Given the description of an element on the screen output the (x, y) to click on. 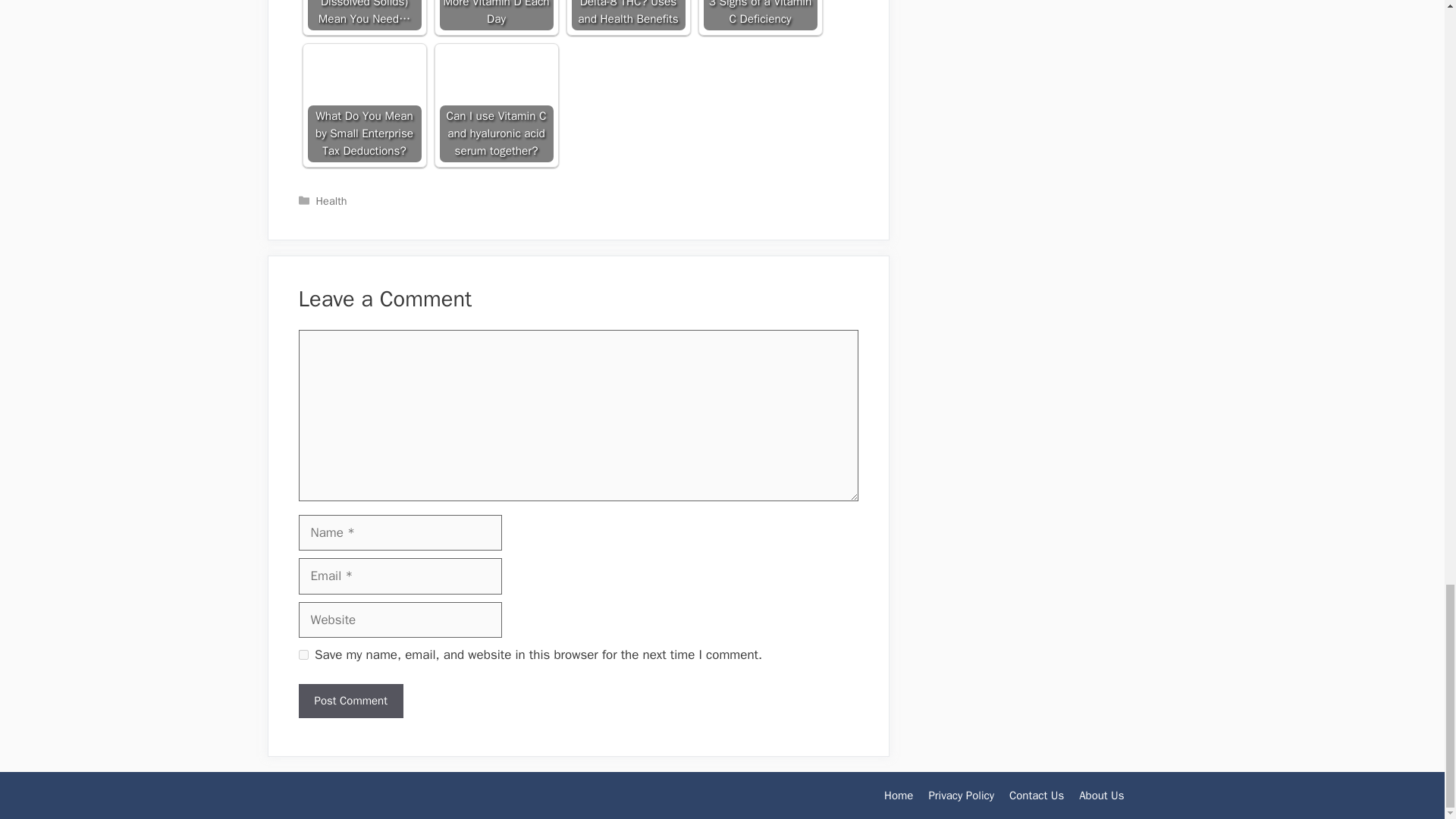
This Is How to Get More Vitamin D Each Day (496, 15)
3 Signs of a Vitamin C Deficiency (759, 15)
Can I use Vitamin C and hyaluronic acid serum together? (496, 105)
This Is How to Get More Vitamin D Each Day (496, 15)
About Us (1101, 795)
Privacy Policy (961, 795)
Health (331, 201)
3 Signs of a Vitamin C Deficiency (759, 15)
What do you mean by Delta-8 THC? Uses and Health Benefits (628, 15)
Contact Us (1036, 795)
Post Comment (350, 700)
yes (303, 655)
Post Comment (350, 700)
Home (897, 795)
What Do You Mean by Small Enterprise Tax Deductions? (364, 105)
